Given the description of an element on the screen output the (x, y) to click on. 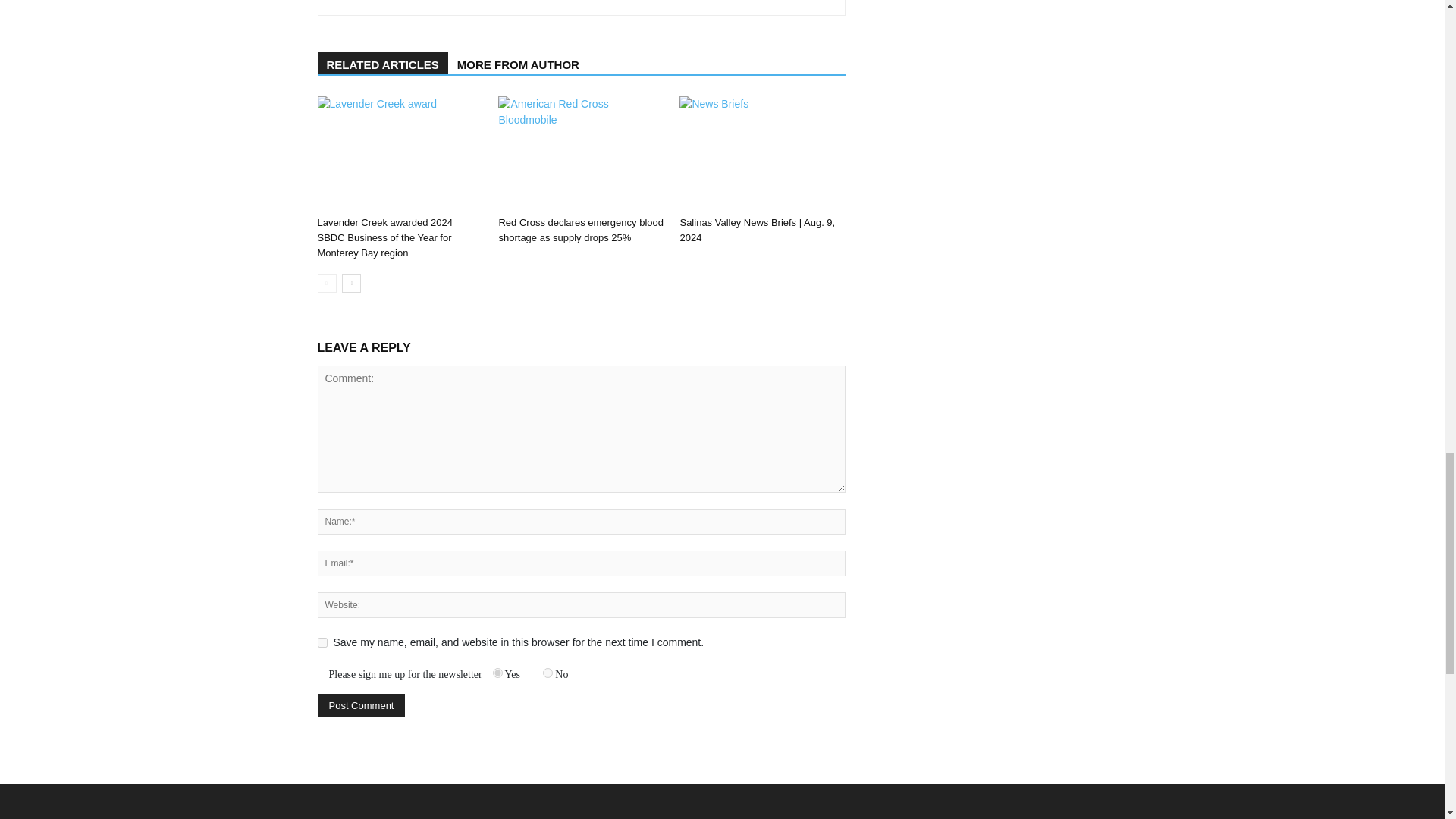
yes (321, 642)
No (548, 673)
Post Comment (360, 705)
Yes (497, 673)
